Given the description of an element on the screen output the (x, y) to click on. 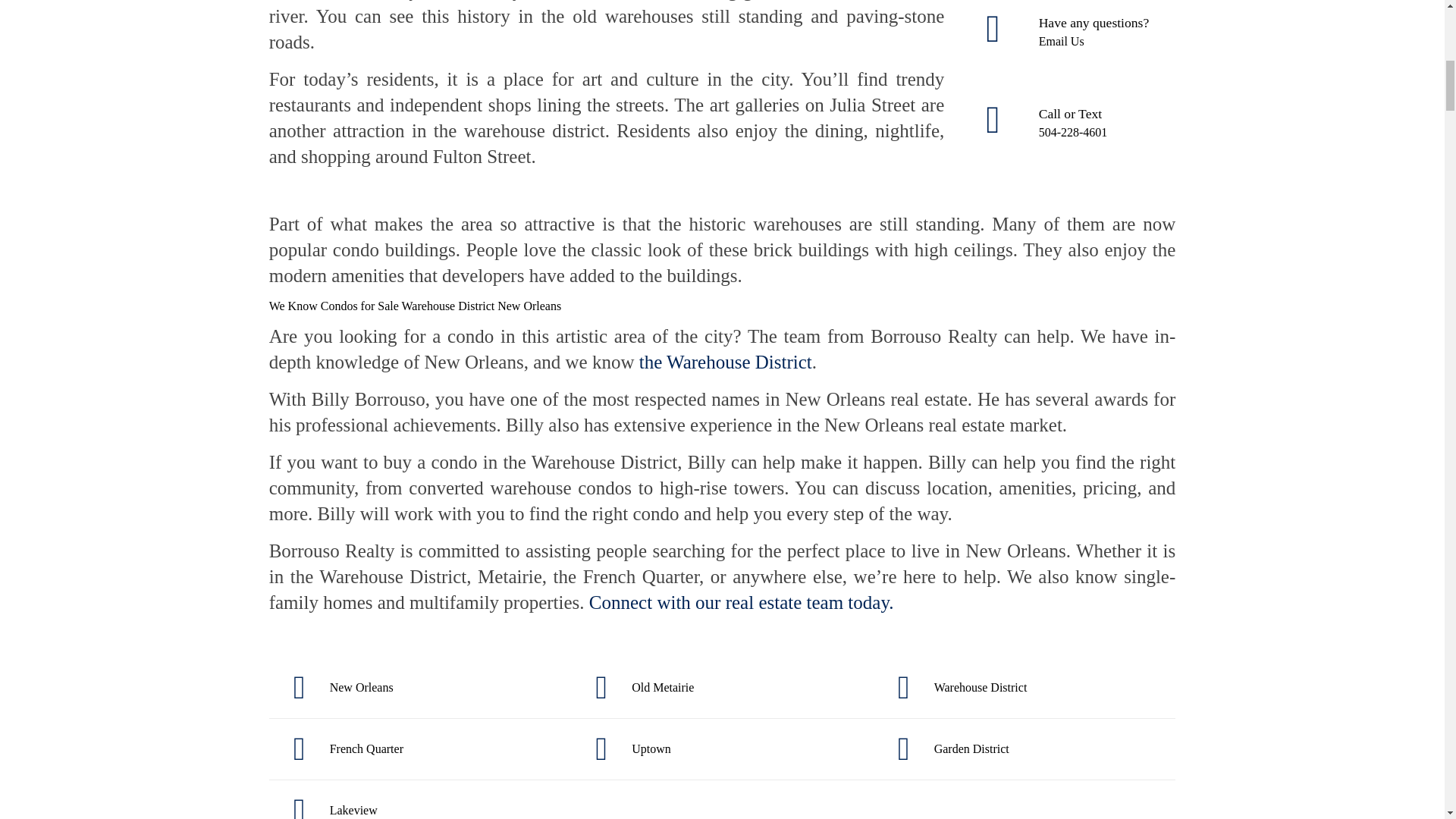
the Warehouse District (725, 362)
Lakeview (419, 803)
Old Metairie (721, 687)
New Orleans (419, 687)
French Quarter (419, 749)
Warehouse District (1023, 687)
Garden District (1023, 749)
Email Us (1061, 41)
504-228-4601 (1073, 132)
Uptown (721, 749)
Connect with our real estate team today. (741, 602)
